Given the description of an element on the screen output the (x, y) to click on. 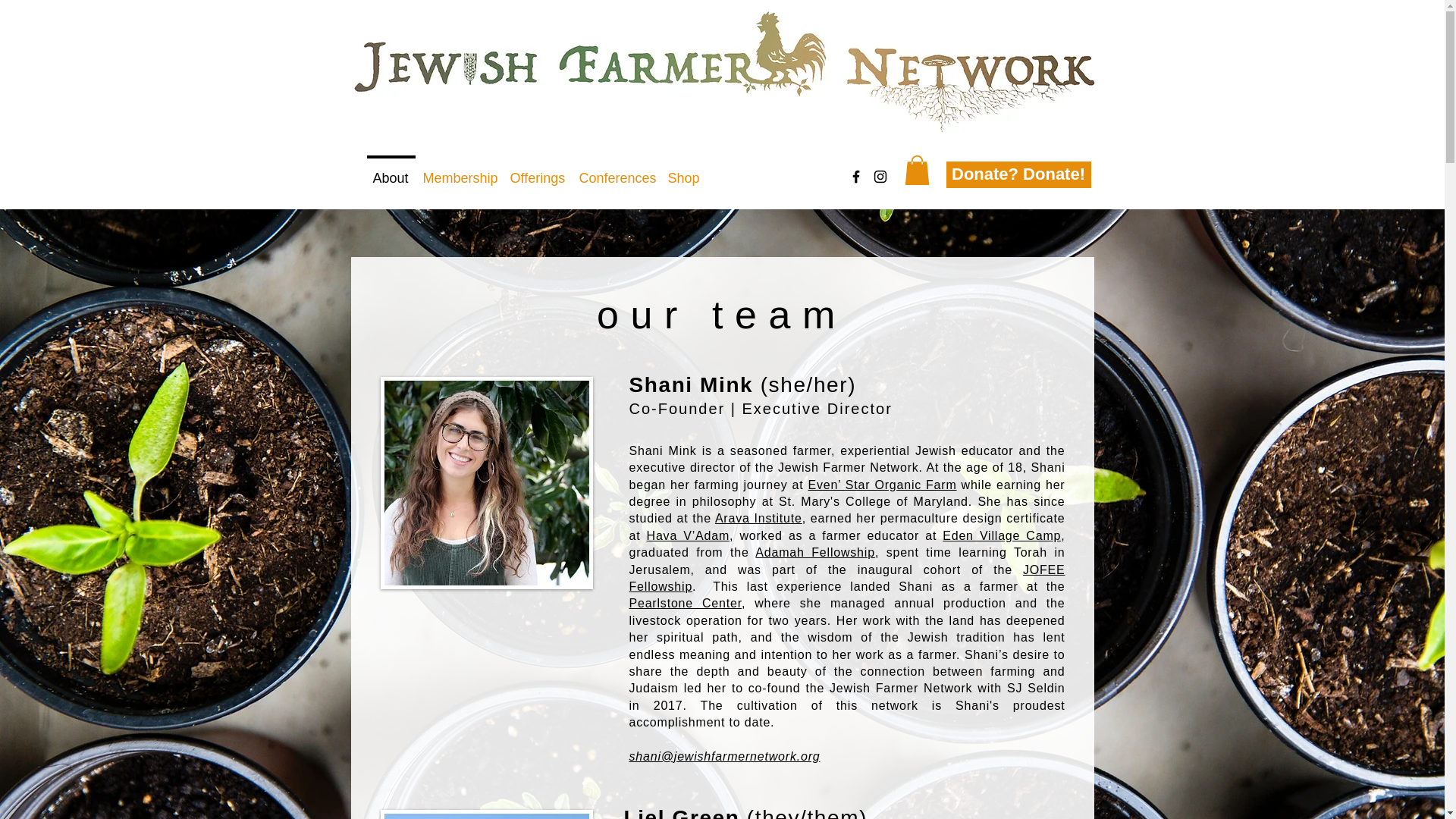
JOFEE Fellowship (846, 577)
Conferences (616, 171)
Membership (458, 171)
About (389, 171)
Pearlstone Center (684, 603)
Donate? Donate! (1018, 174)
Offerings (537, 171)
Arava Institute (758, 517)
Eden Village Camp (1001, 535)
Adamah Fellowship (815, 552)
Shop (682, 171)
